Given the description of an element on the screen output the (x, y) to click on. 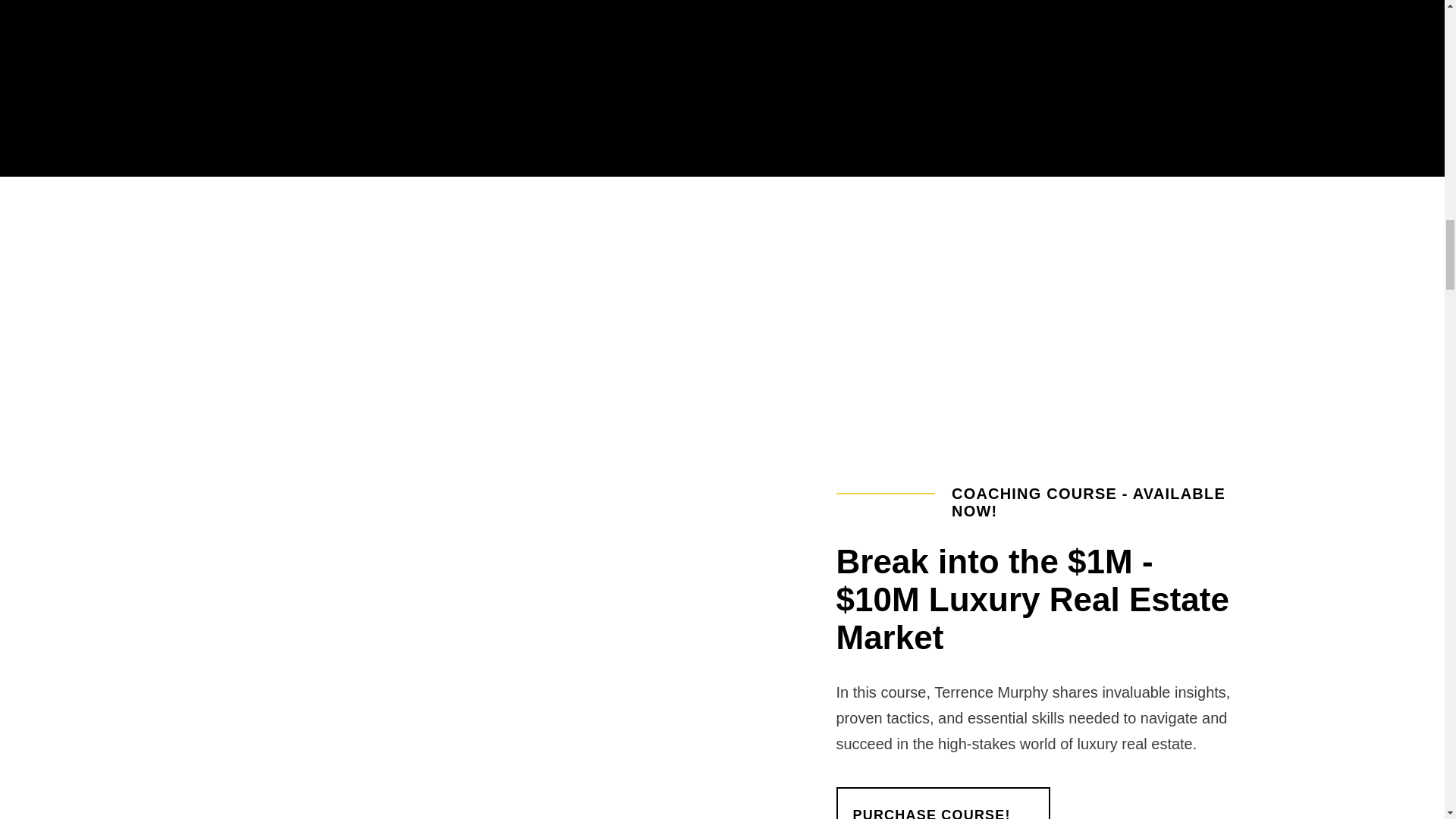
PURCHASE COURSE! (942, 803)
